Given the description of an element on the screen output the (x, y) to click on. 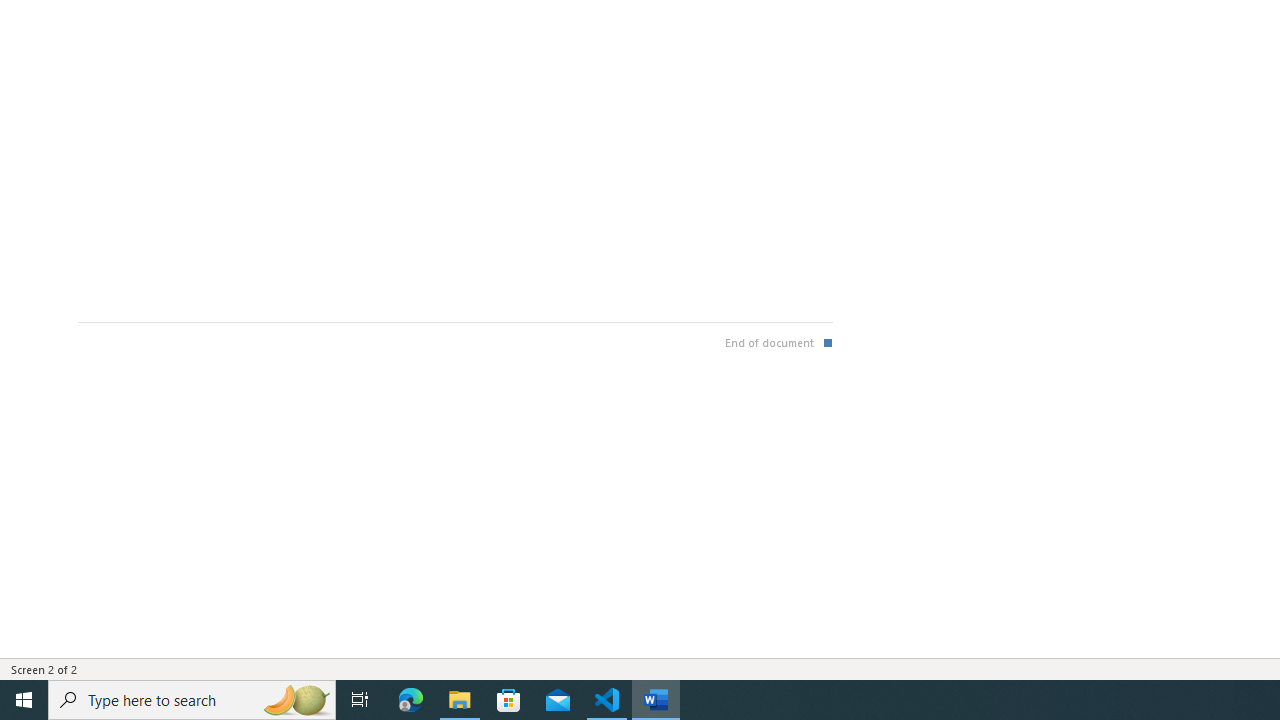
Page Number Screen 2 of 2  (44, 668)
